Given the description of an element on the screen output the (x, y) to click on. 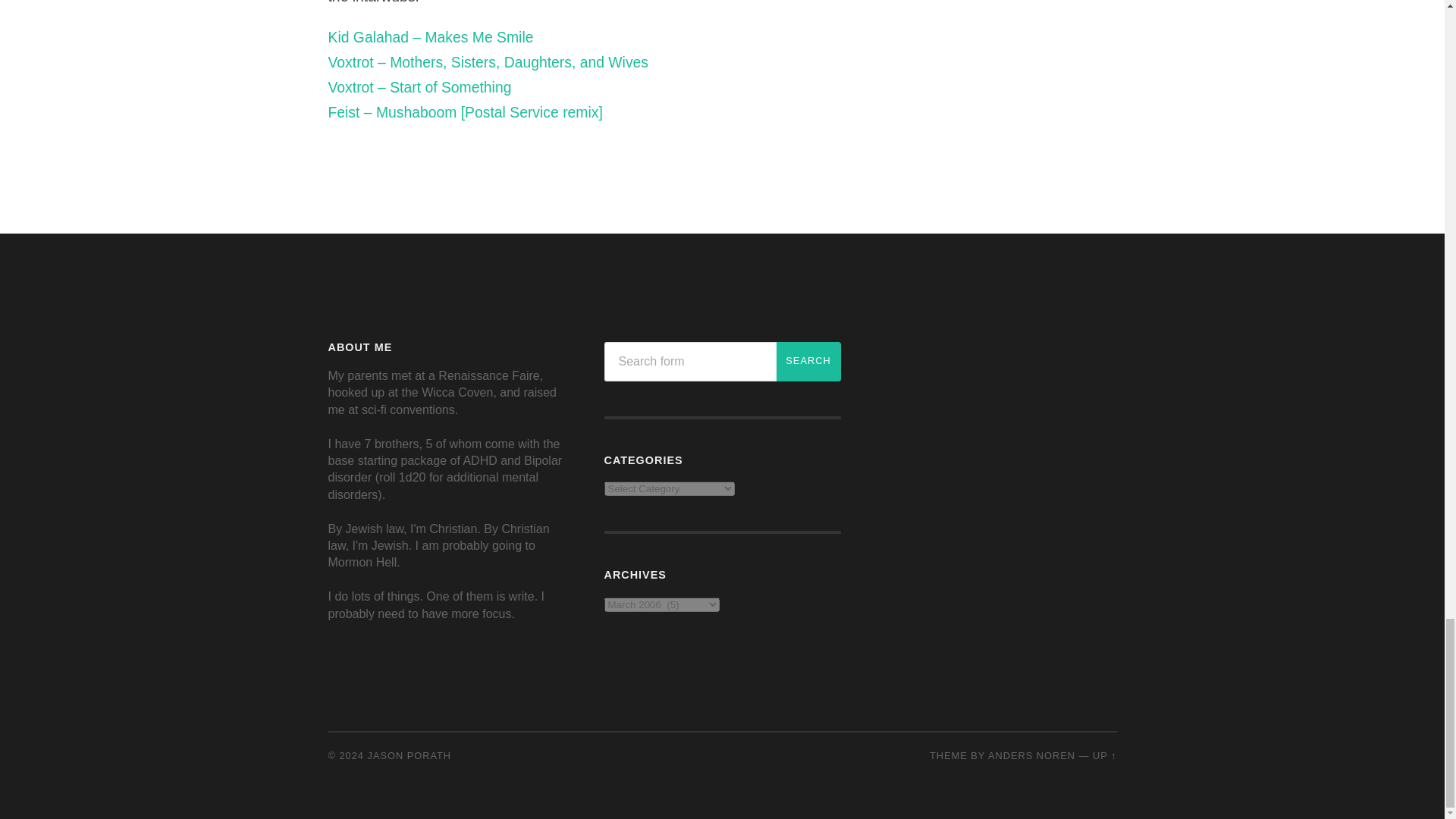
Search (808, 361)
